Given the description of an element on the screen output the (x, y) to click on. 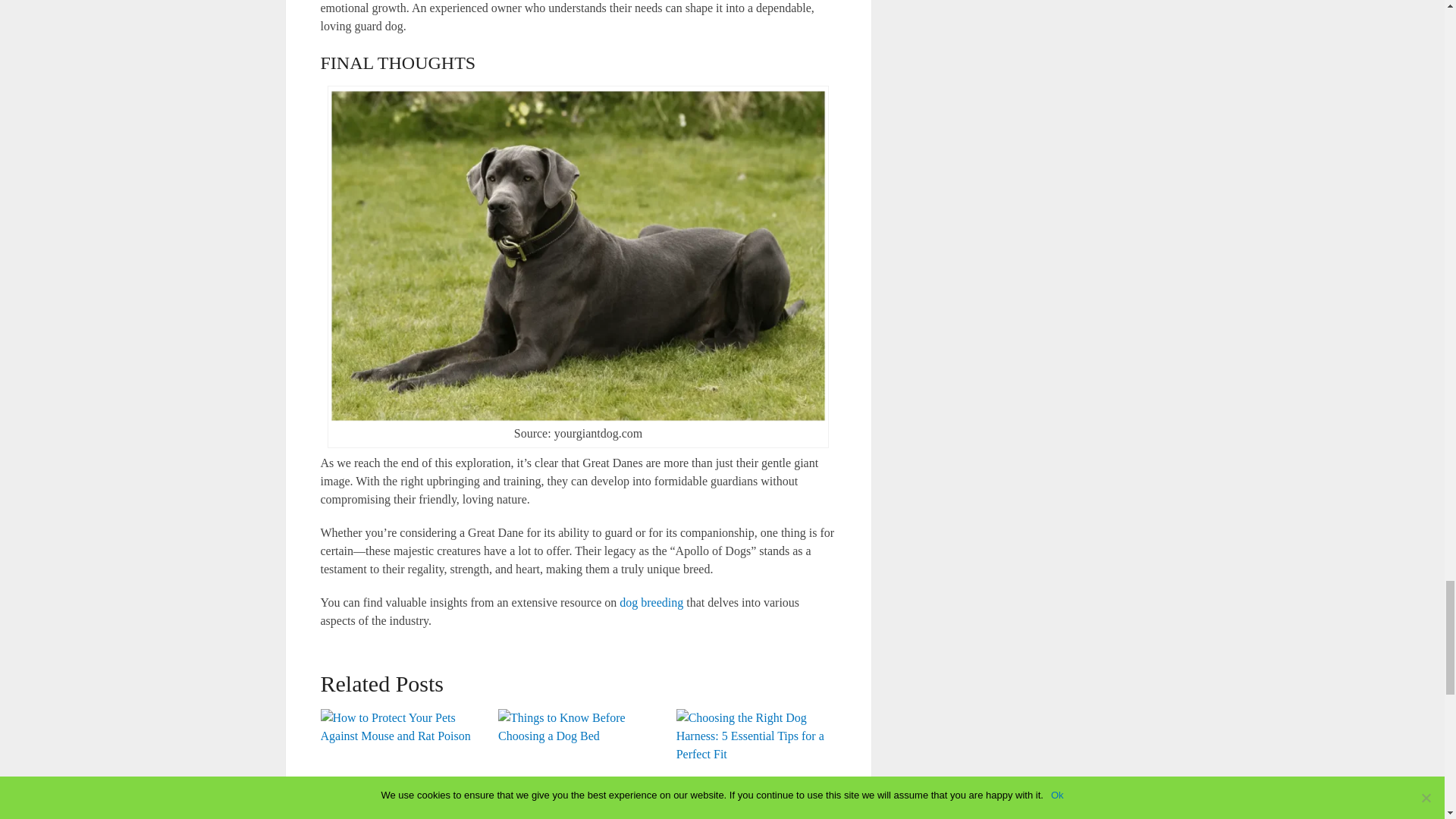
Things to Know Before Choosing a Dog Bed (577, 764)
How to Protect Your Pets Against Mouse and Rat Poison (400, 764)
dog breeding (651, 602)
